Given the description of an element on the screen output the (x, y) to click on. 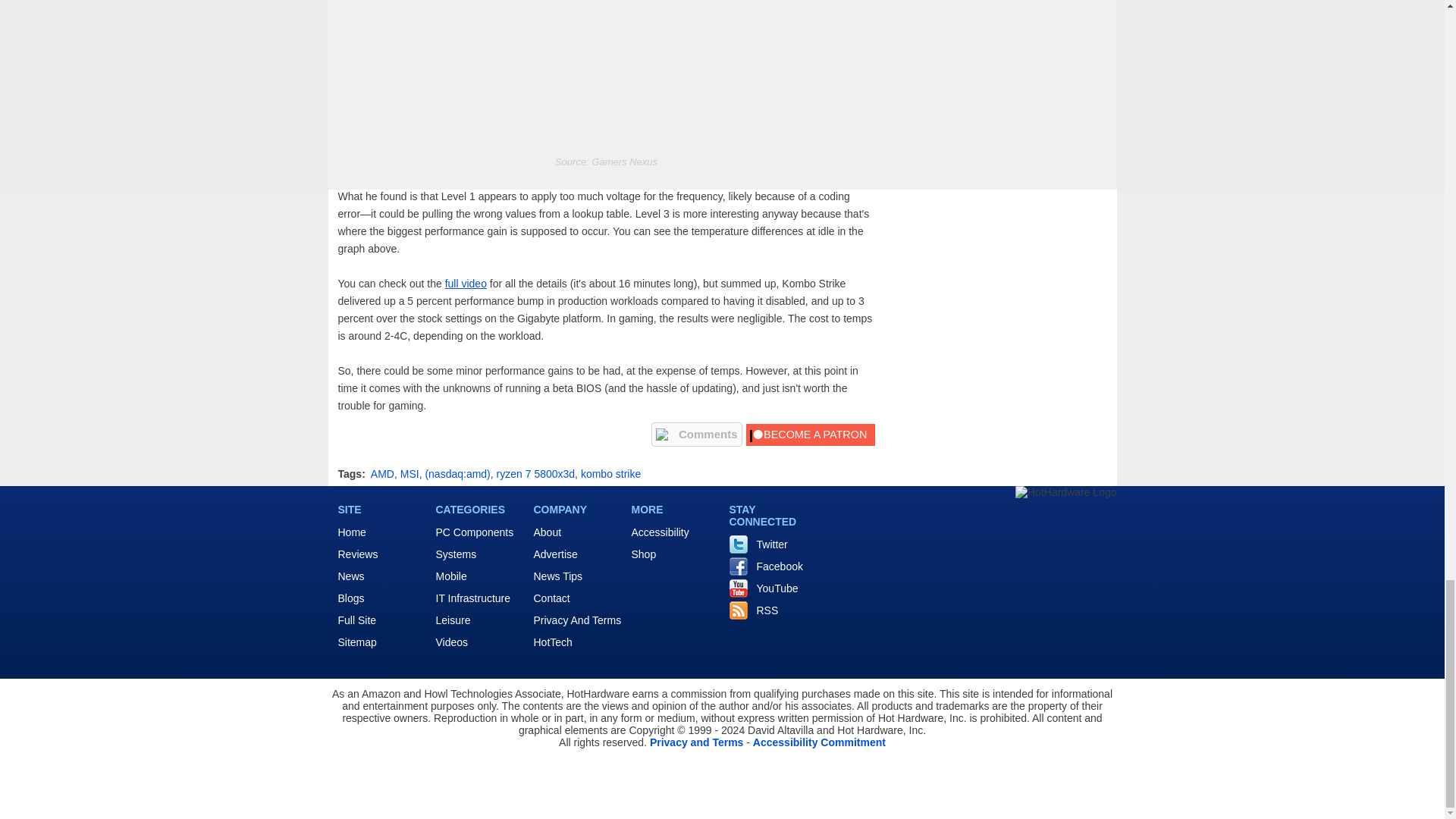
Comments (696, 434)
